Given the description of an element on the screen output the (x, y) to click on. 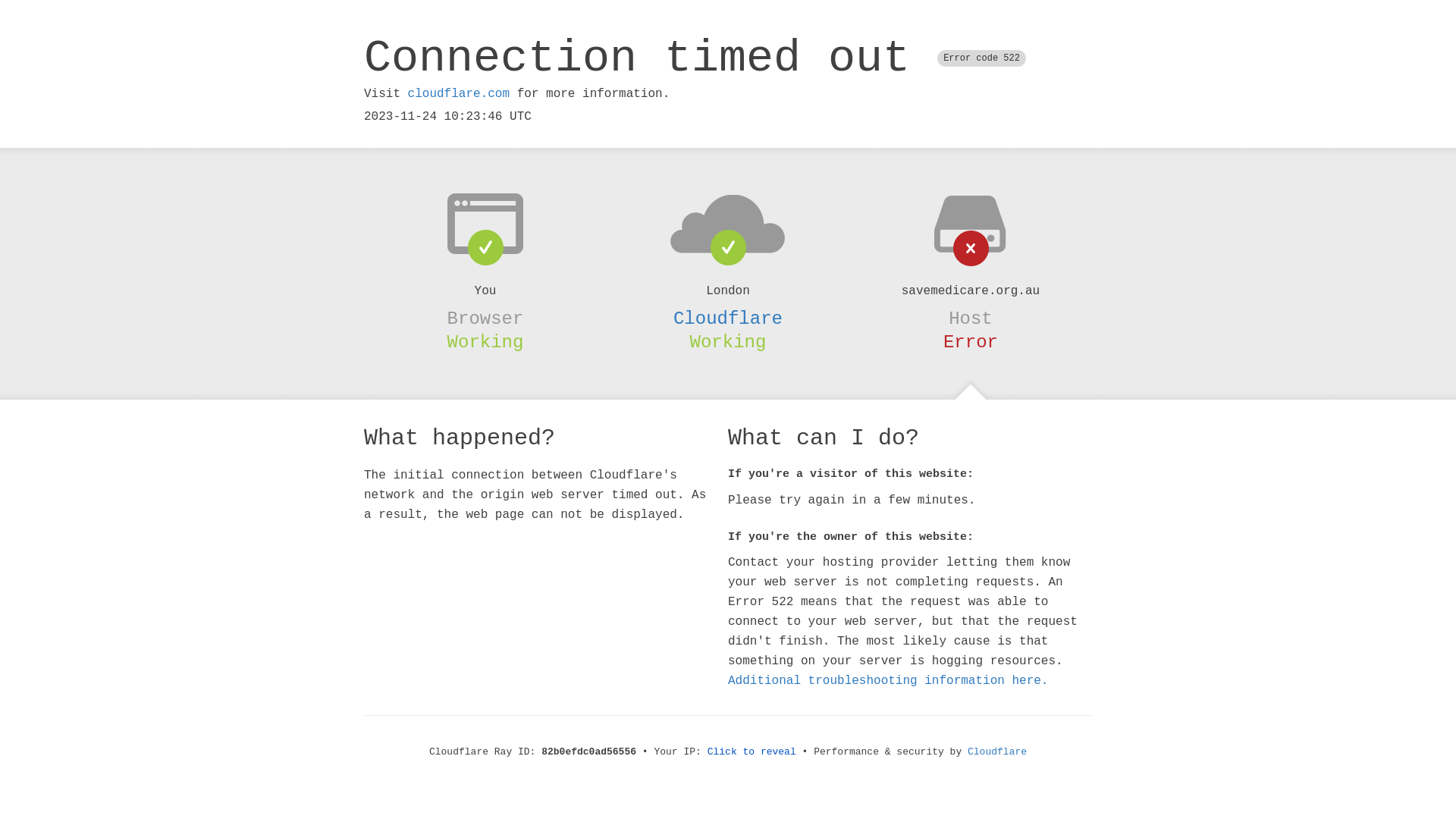
Additional troubleshooting information here. Element type: text (888, 680)
Click to reveal Element type: text (751, 751)
cloudflare.com Element type: text (458, 93)
Cloudflare Element type: text (727, 318)
Cloudflare Element type: text (996, 751)
